Given the description of an element on the screen output the (x, y) to click on. 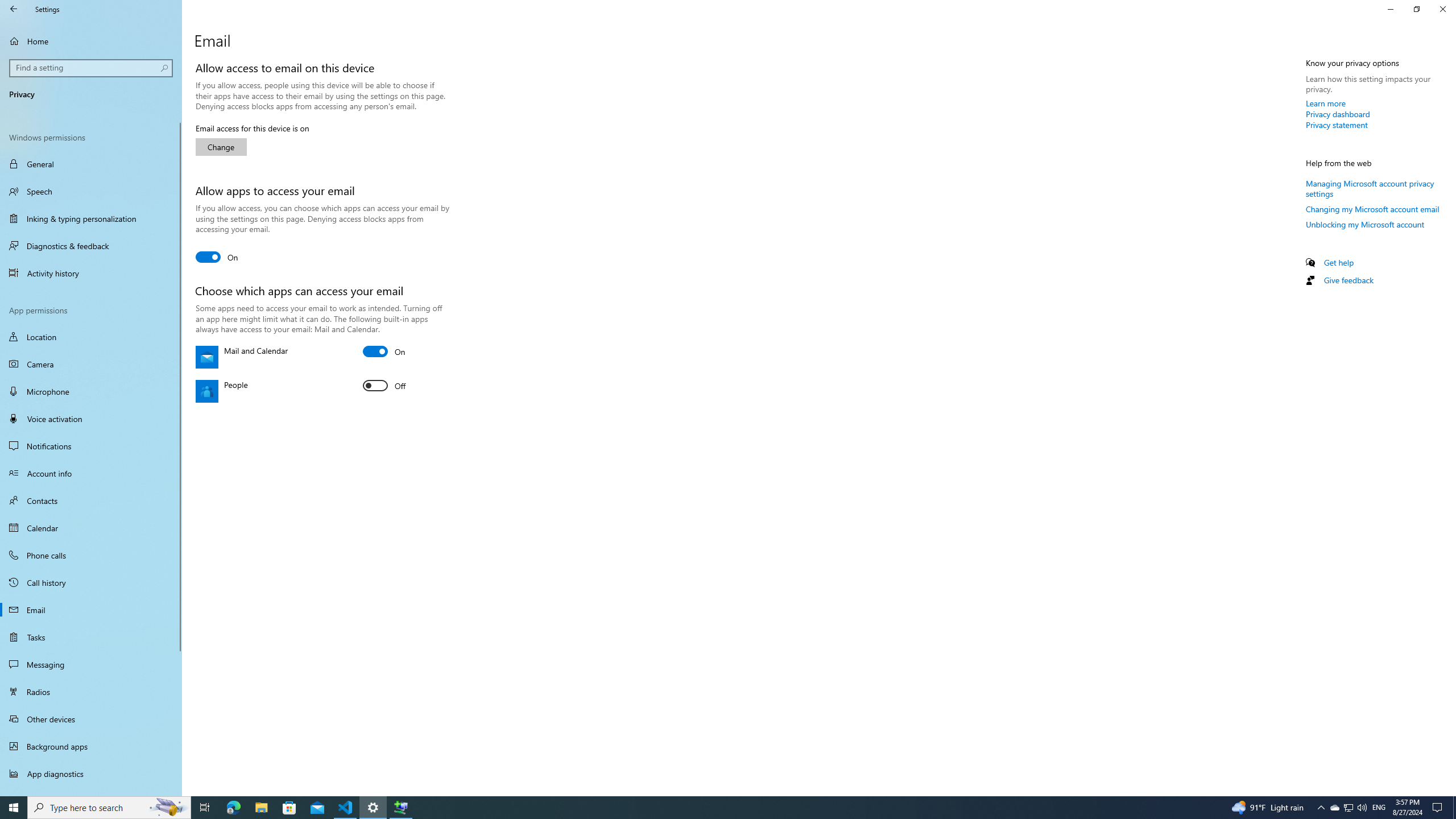
Changing my Microsoft account email (1372, 208)
User Promoted Notification Area (1347, 807)
Notification Chevron (1320, 807)
Background apps (91, 746)
Type here to search (108, 807)
Settings - 1 running window (373, 807)
Privacy dashboard (1338, 113)
Radios (91, 691)
Speech (91, 190)
Learn more (1326, 102)
Microphone (91, 390)
Email (91, 609)
Home (91, 40)
